Given the description of an element on the screen output the (x, y) to click on. 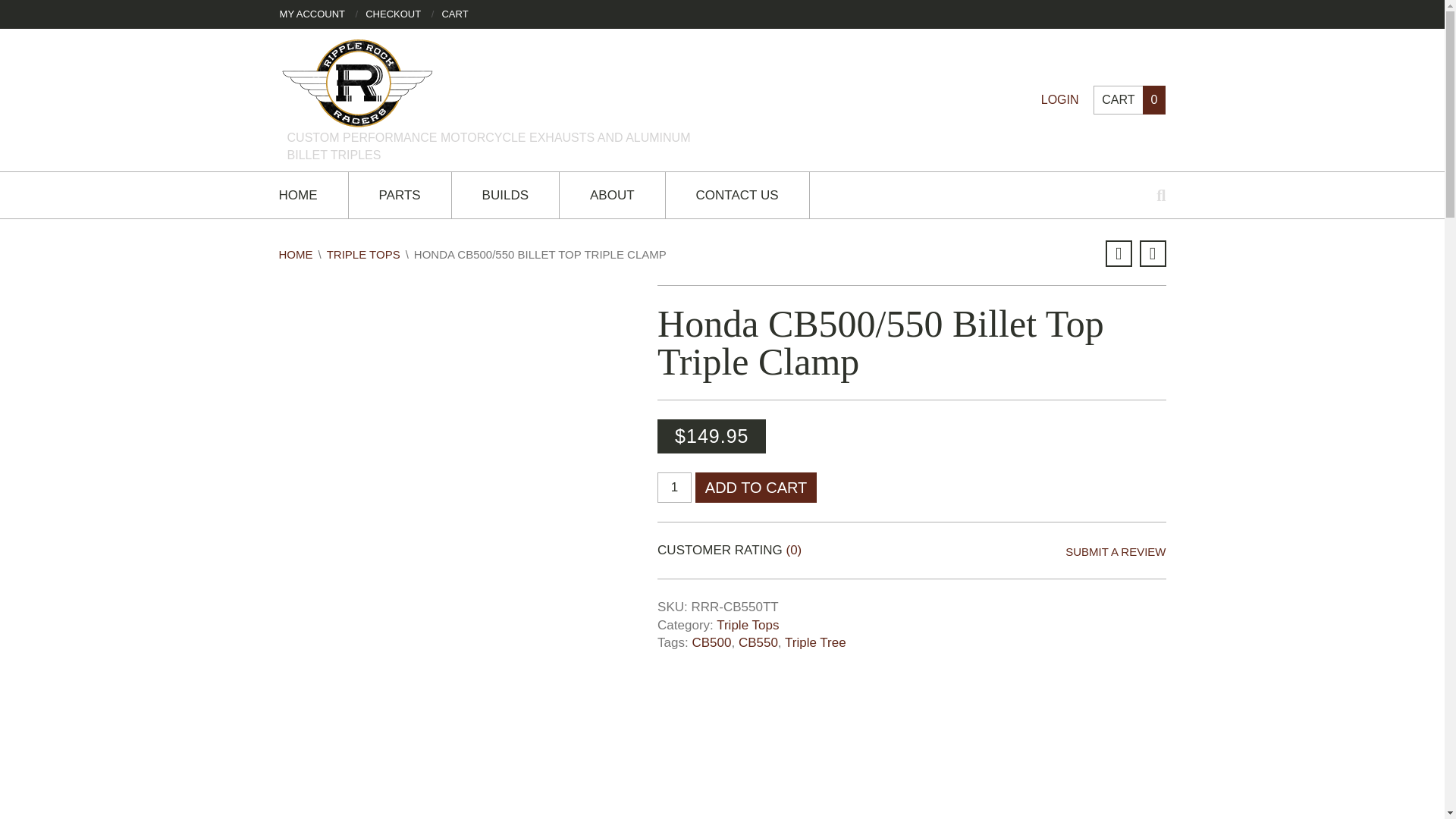
CART (454, 13)
Triple Tree (814, 642)
SUBMIT A REVIEW (1115, 550)
HOME (296, 254)
ADD TO CART (755, 487)
Triple Tops (747, 625)
MY ACCOUNT (312, 13)
CHECKOUT (392, 13)
LOGIN (1059, 99)
